Given the description of an element on the screen output the (x, y) to click on. 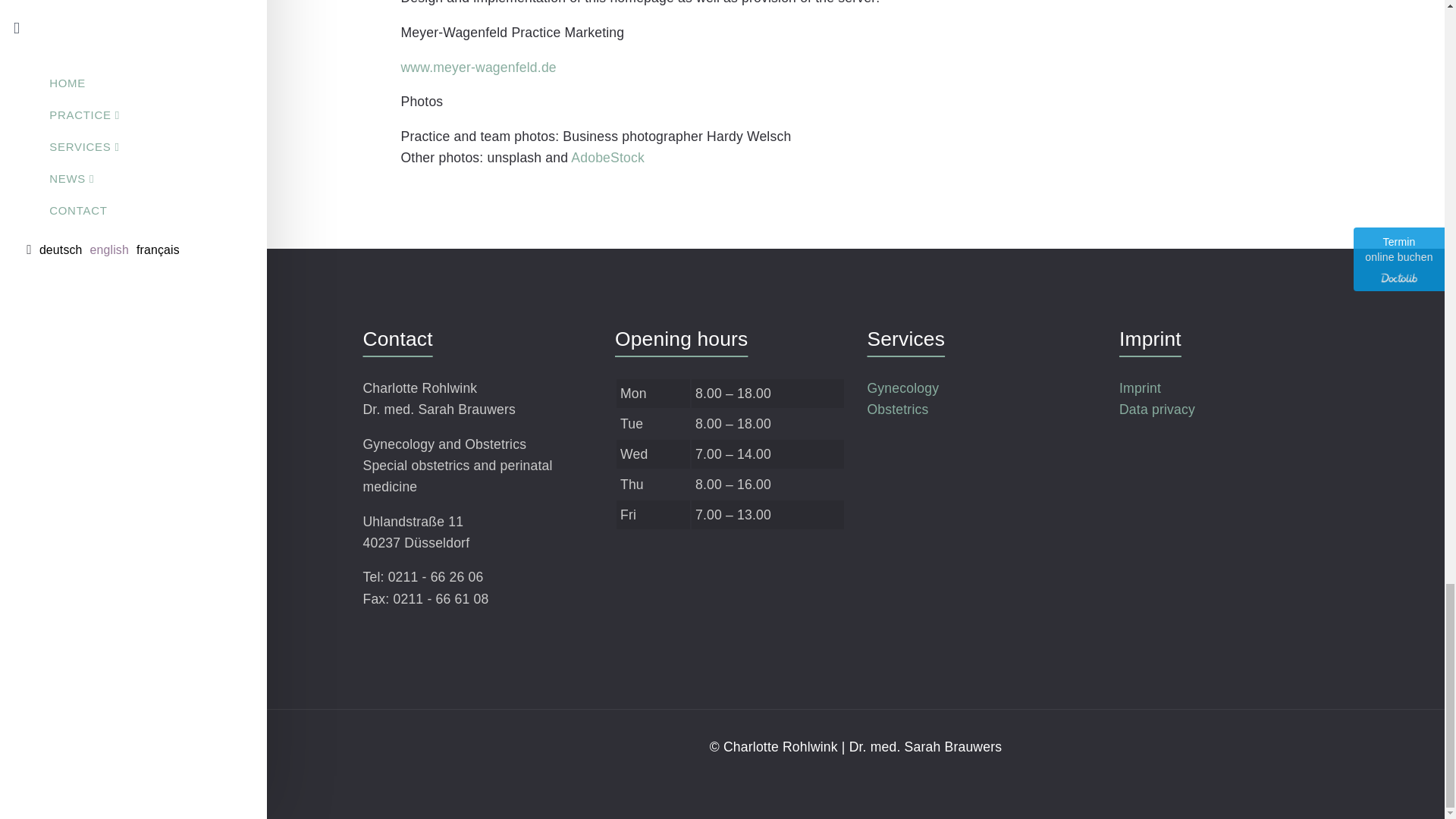
Imprint (1139, 387)
Data privacy (1157, 409)
Gynecology (902, 387)
Opens external link in new window (607, 157)
Data privacy (1157, 409)
Gynecology (902, 387)
AdobeStock (607, 157)
www.meyer-wagenfeld.de (478, 67)
Obstetrics (897, 409)
Obstetrics (897, 409)
Imprint (1139, 387)
